Given the description of an element on the screen output the (x, y) to click on. 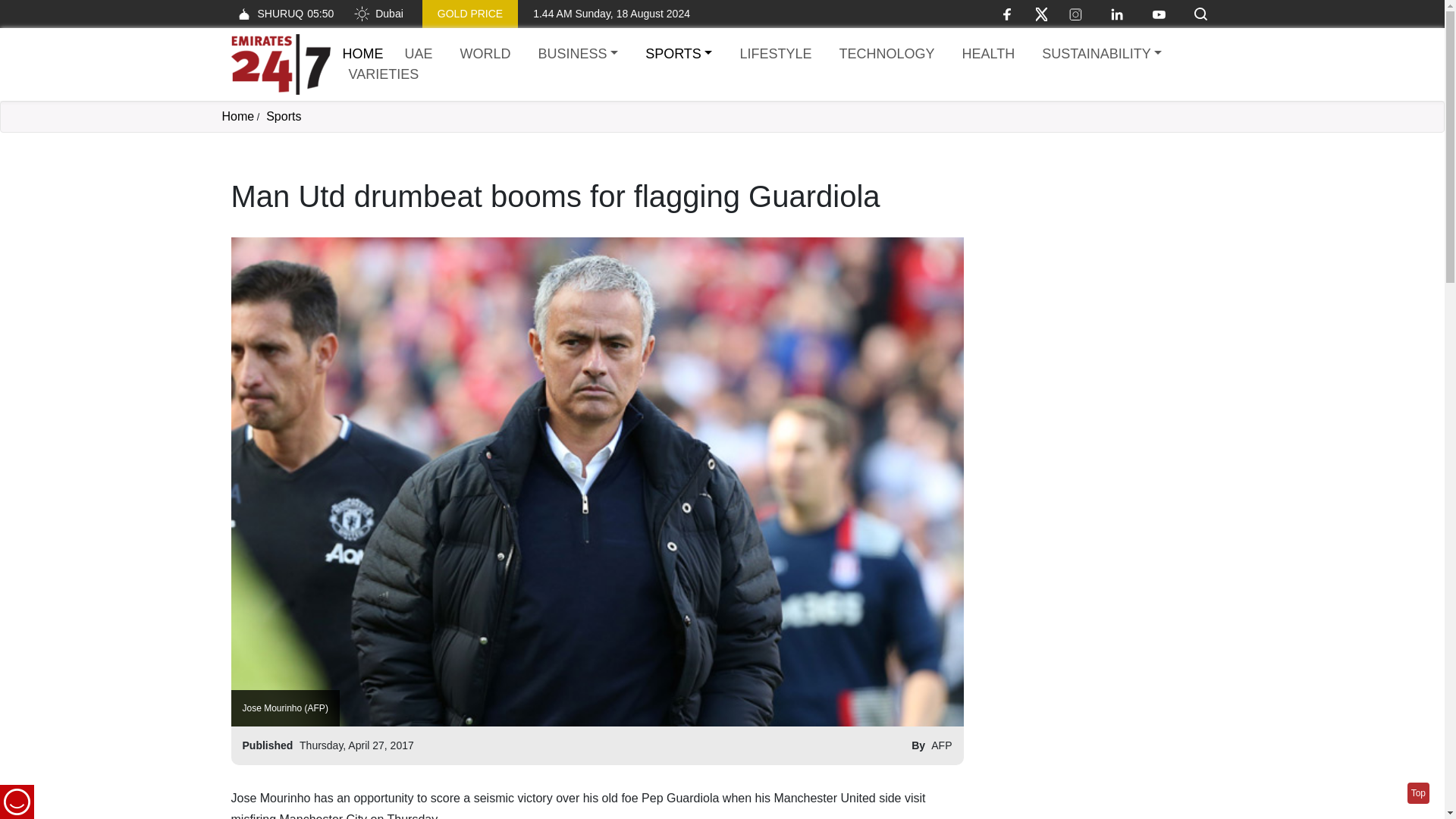
Home (237, 115)
Home (363, 53)
Sports (283, 115)
SPORTS (678, 54)
Home (280, 64)
HOME (363, 53)
SUSTAINABILITY (1101, 54)
GOLD PRICE (470, 13)
BUSINESS (578, 54)
UAE (418, 54)
